Given the description of an element on the screen output the (x, y) to click on. 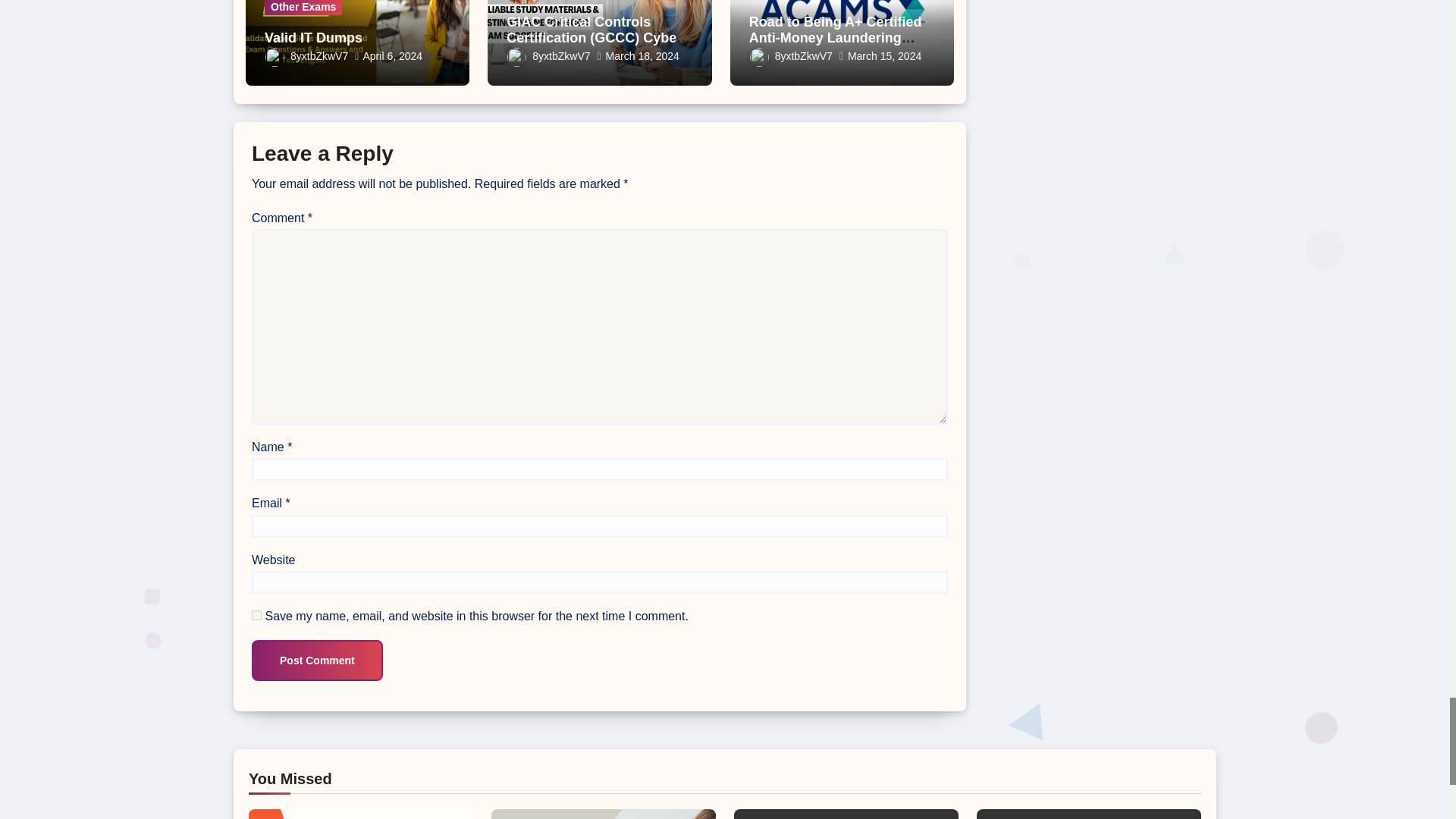
Permalink to: Valid IT Dumps (313, 37)
Post Comment (316, 659)
yes (256, 614)
